Given the description of an element on the screen output the (x, y) to click on. 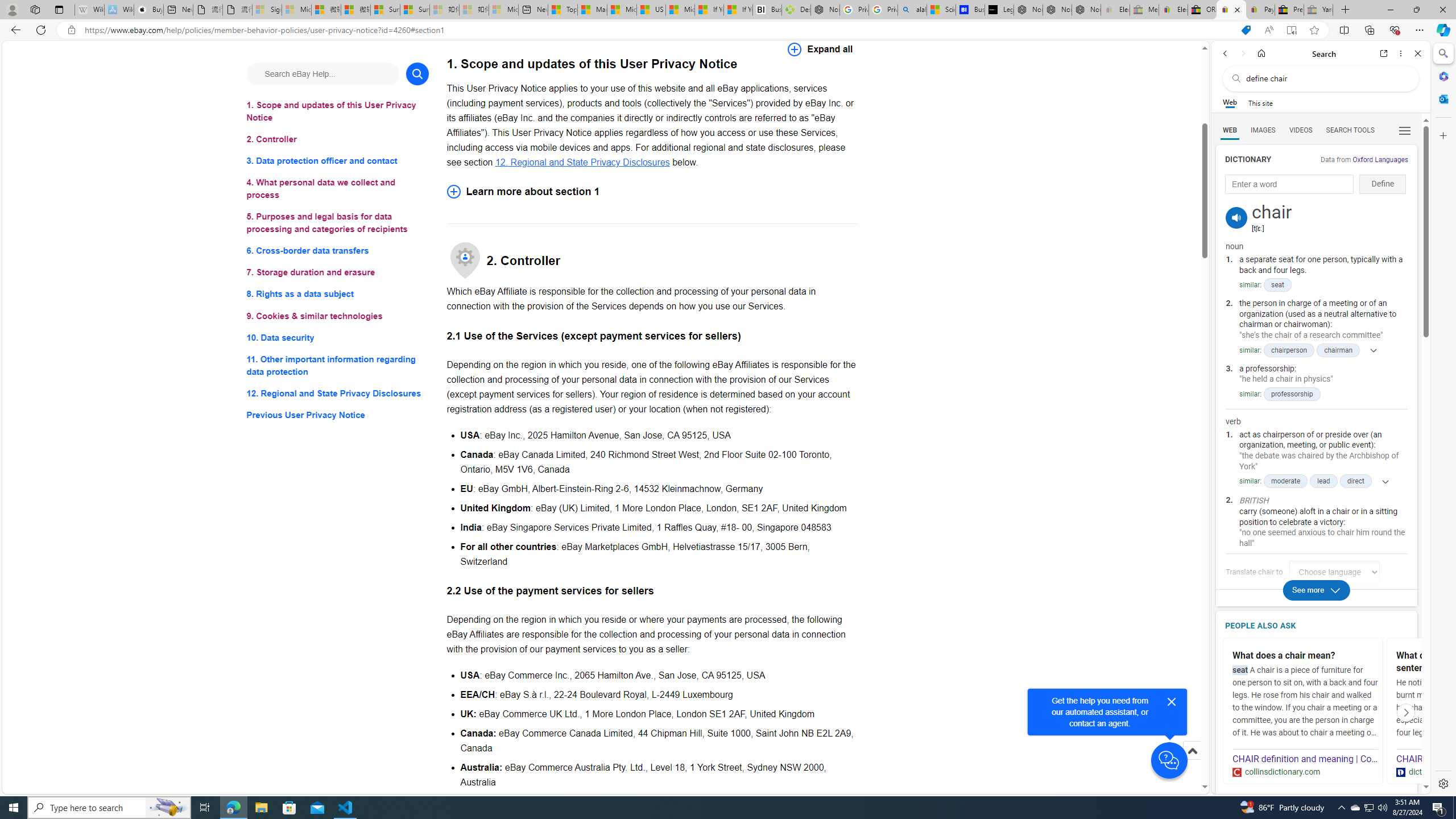
2. Controller (337, 138)
seat (1277, 285)
lead (1324, 481)
Payments Terms of Use | eBay.com (1259, 9)
moderate (1285, 481)
Define (1382, 184)
4. What personal data we collect and process (337, 189)
Translate chair to Choose language (1335, 572)
